Given the description of an element on the screen output the (x, y) to click on. 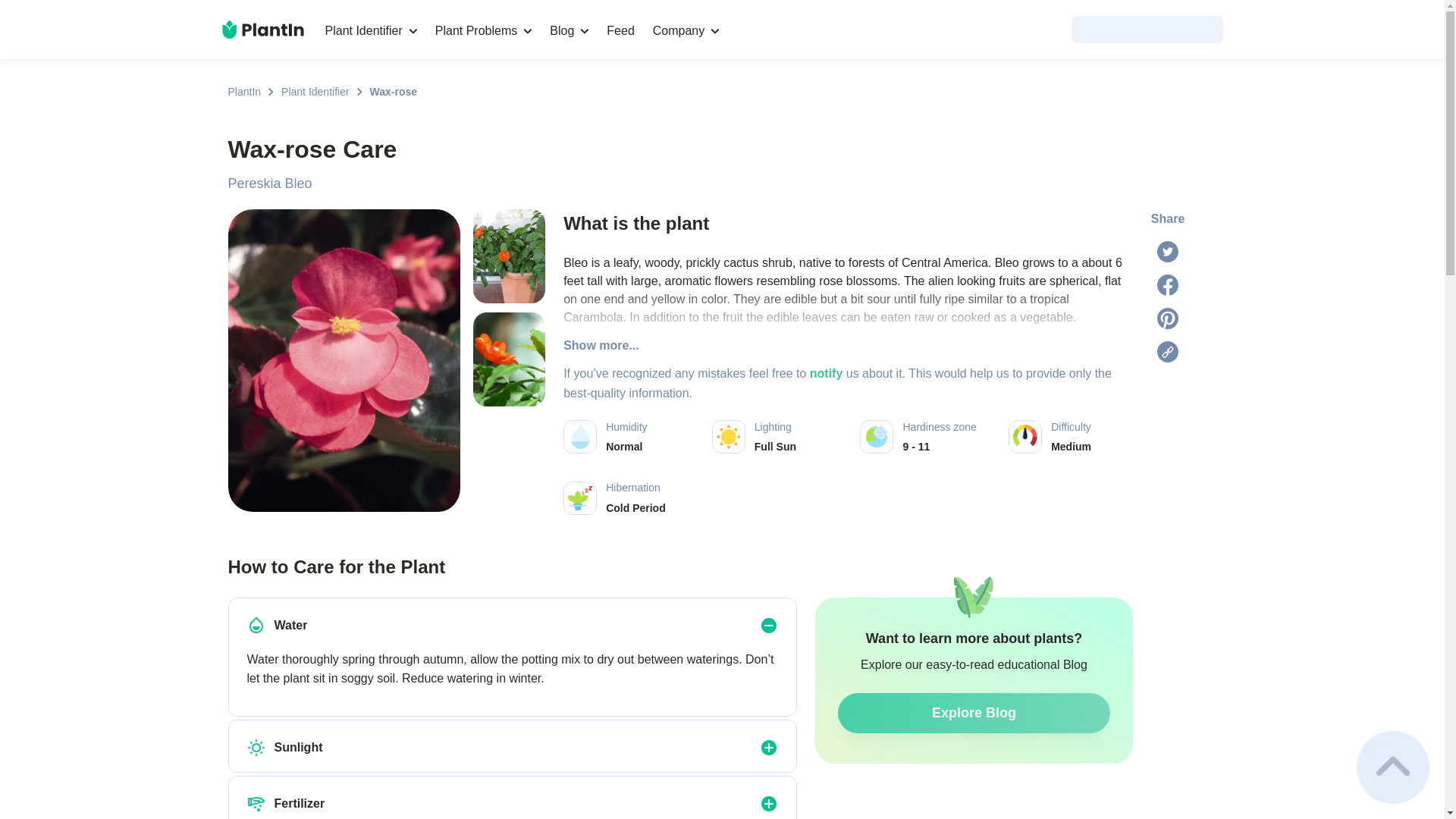
Plant Identifier (315, 91)
Plant Identifier (315, 91)
Blog (568, 31)
Explore Blog (973, 712)
Home (261, 29)
PlantIn (243, 91)
Lighting (728, 436)
Sunlight (255, 747)
PlantIn (243, 91)
